Given the description of an element on the screen output the (x, y) to click on. 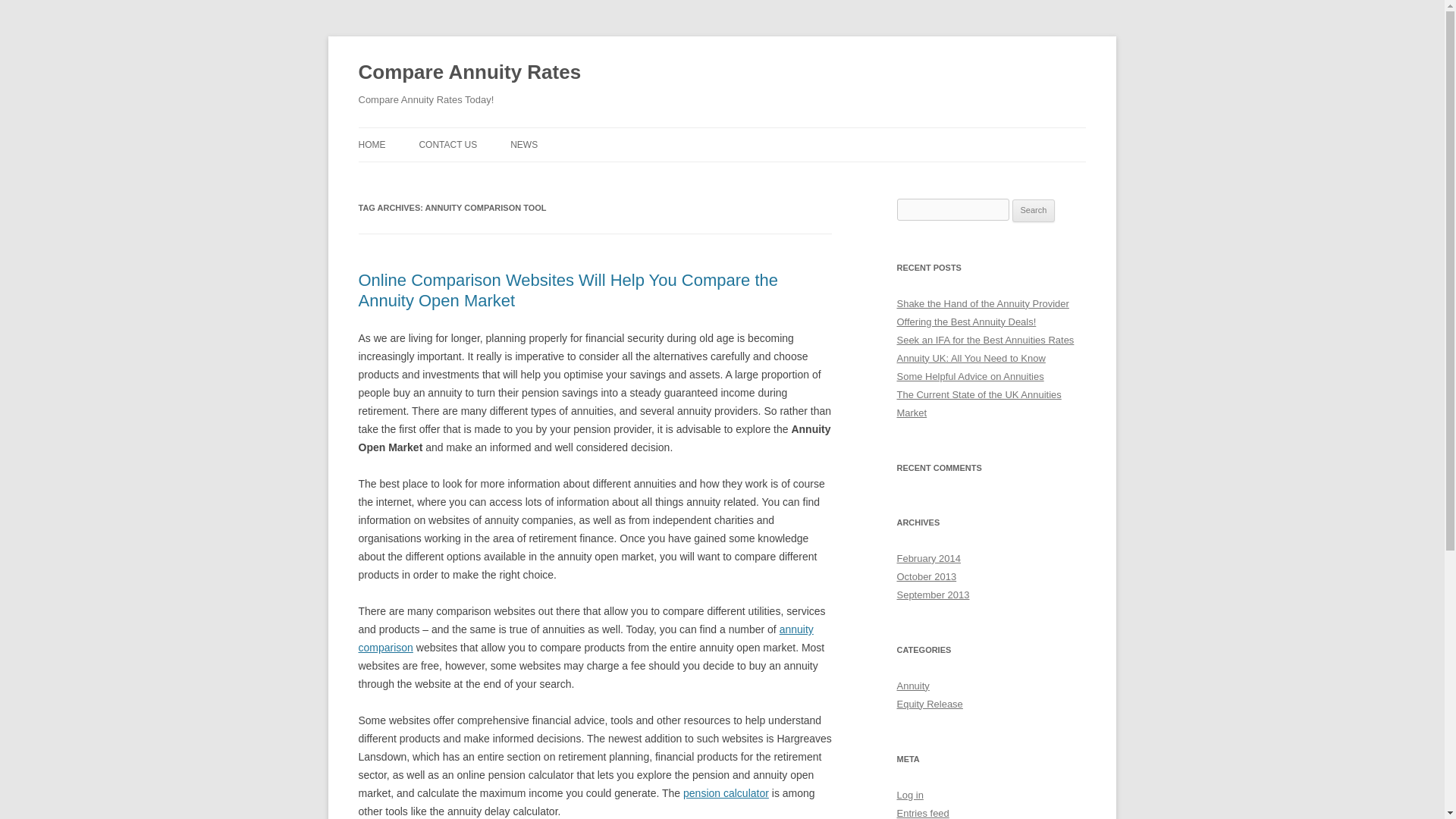
CONTACT US (448, 144)
September 2013 (932, 594)
Annuity UK: All You Need to Know (970, 357)
Search (1033, 210)
October 2013 (926, 576)
Equity Release (929, 704)
Compare Annuity Rates (469, 72)
The Current State of the UK Annuities Market (978, 403)
February 2014 (927, 558)
Pension calculator (725, 793)
Seek an IFA for the Best Annuities Rates (985, 339)
Annuity comparison (585, 638)
